Given the description of an element on the screen output the (x, y) to click on. 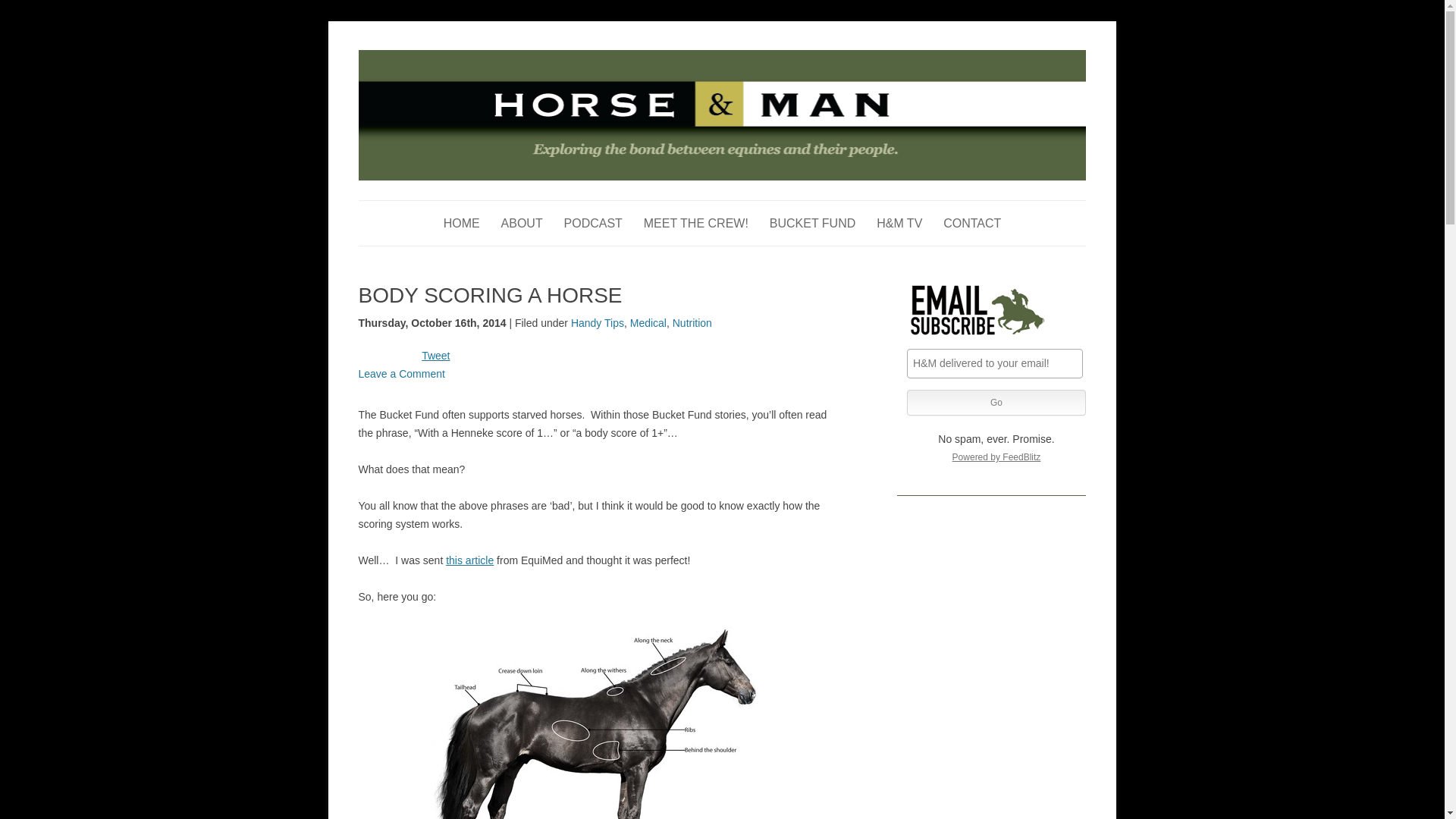
BUCKET FUND (813, 222)
Leave a Comment (401, 373)
Contact Horse and Man (972, 222)
Nutrition (691, 322)
Go (996, 402)
About Horse and Man (521, 222)
Tweet (435, 355)
Powered by FeedBlitz (996, 457)
Go (996, 402)
MEET THE CREW! (695, 222)
CONTACT (972, 222)
Medical (648, 322)
Handy Tips (597, 322)
ABOUT (521, 222)
Horse and Man (428, 57)
